Given the description of an element on the screen output the (x, y) to click on. 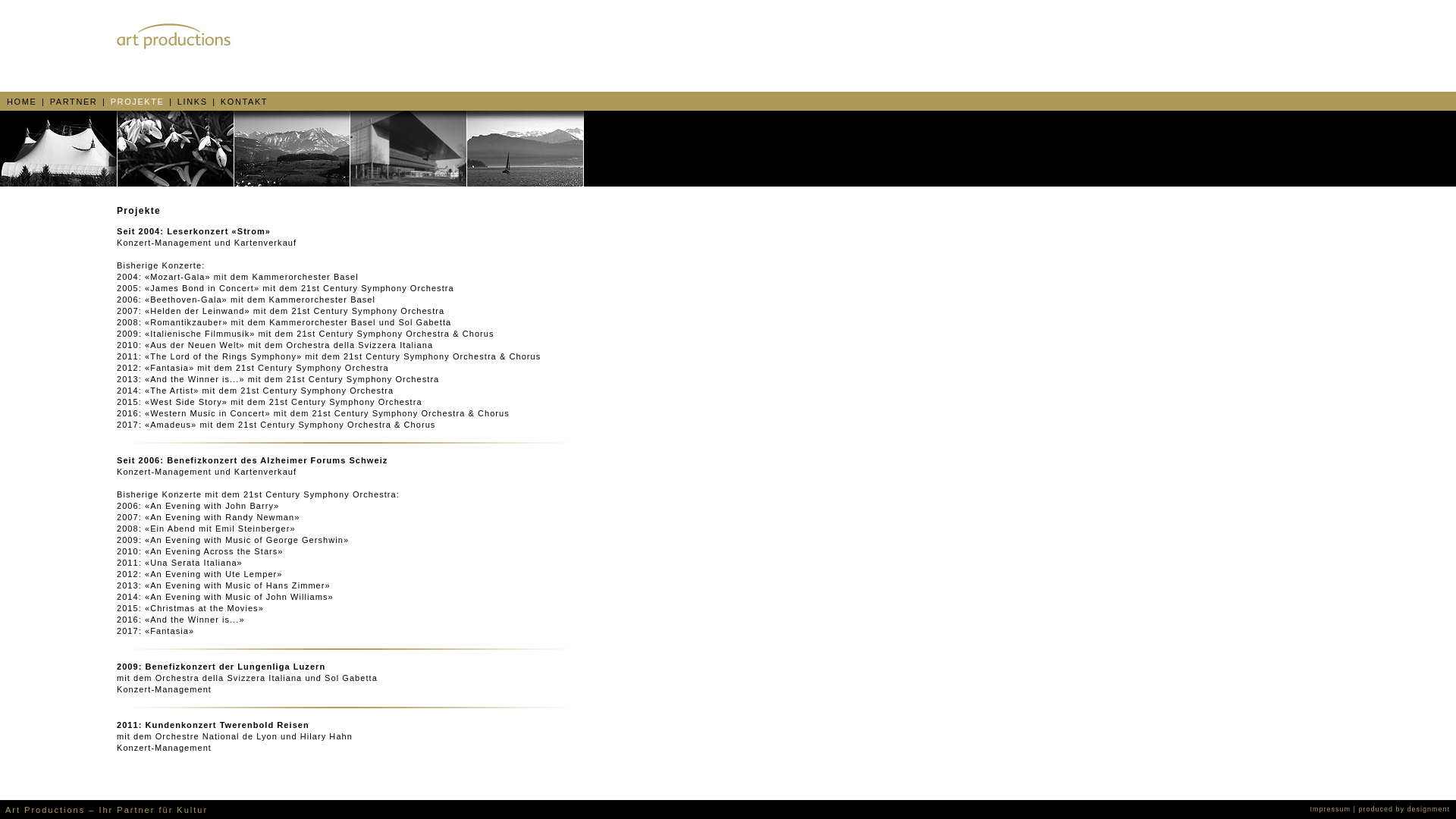
Impressum Element type: text (1330, 808)
PARTNER Element type: text (75, 101)
produced by designment Element type: text (1403, 808)
PROJEKTE Element type: text (139, 101)
HOME Element type: text (23, 101)
LINKS Element type: text (193, 101)
KONTAKT Element type: text (243, 101)
